Given the description of an element on the screen output the (x, y) to click on. 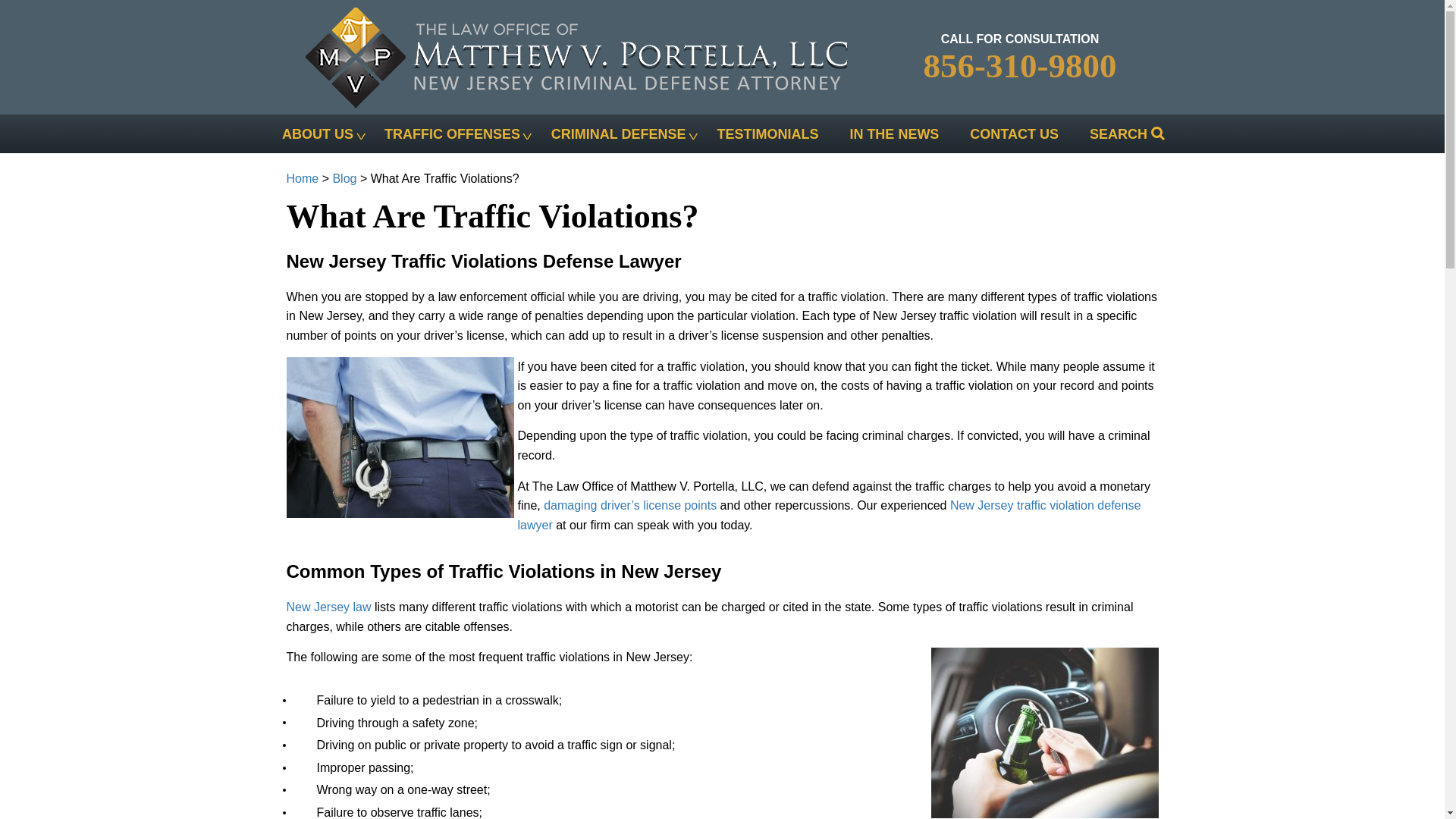
ABOUT US (317, 133)
TRAFFIC OFFENSES (451, 133)
TESTIMONIALS (767, 133)
856-310-9800 (1019, 65)
CRIMINAL DEFENSE (617, 133)
